Given the description of an element on the screen output the (x, y) to click on. 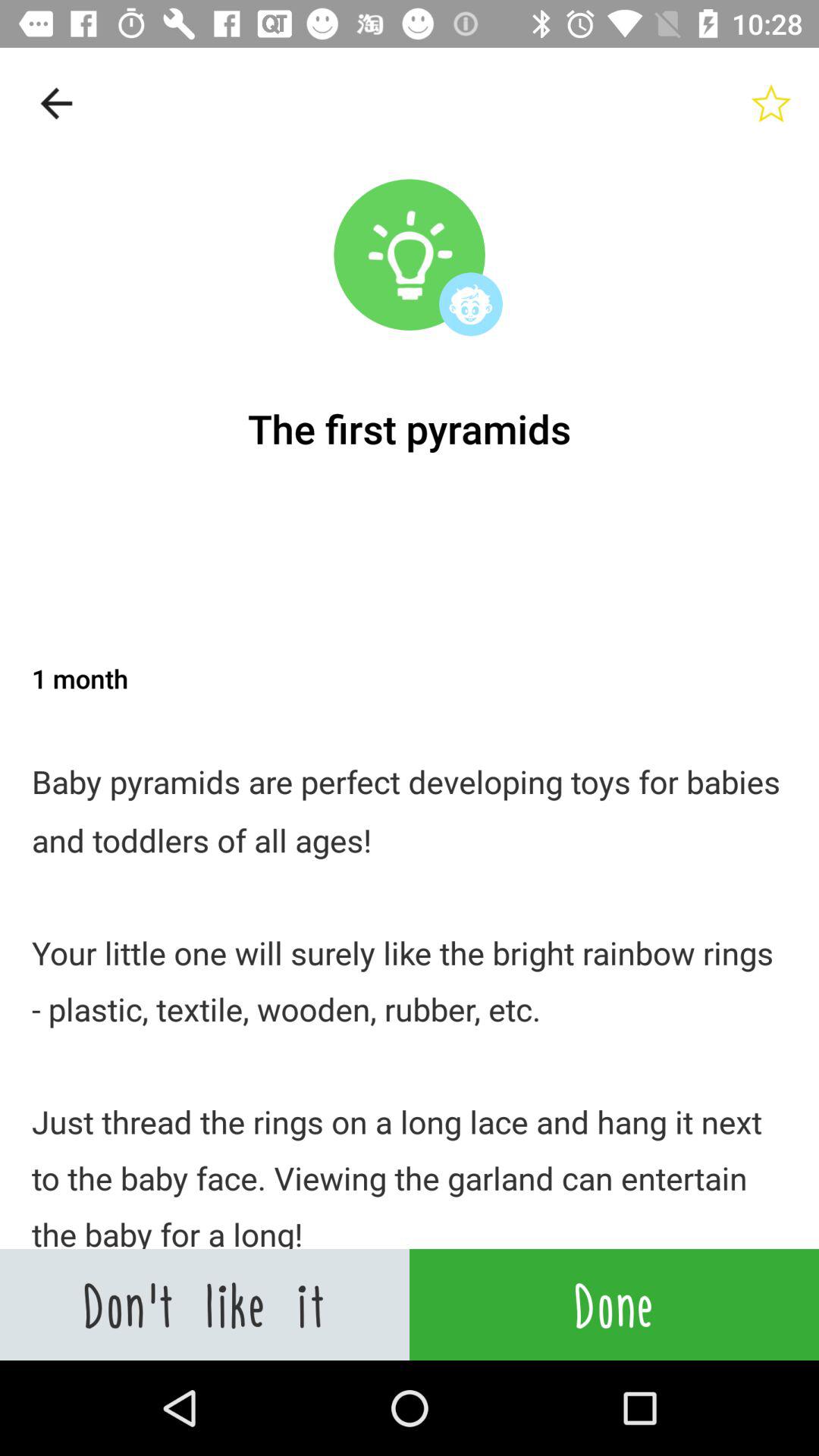
select the icon above the the first pyramids icon (771, 103)
